Given the description of an element on the screen output the (x, y) to click on. 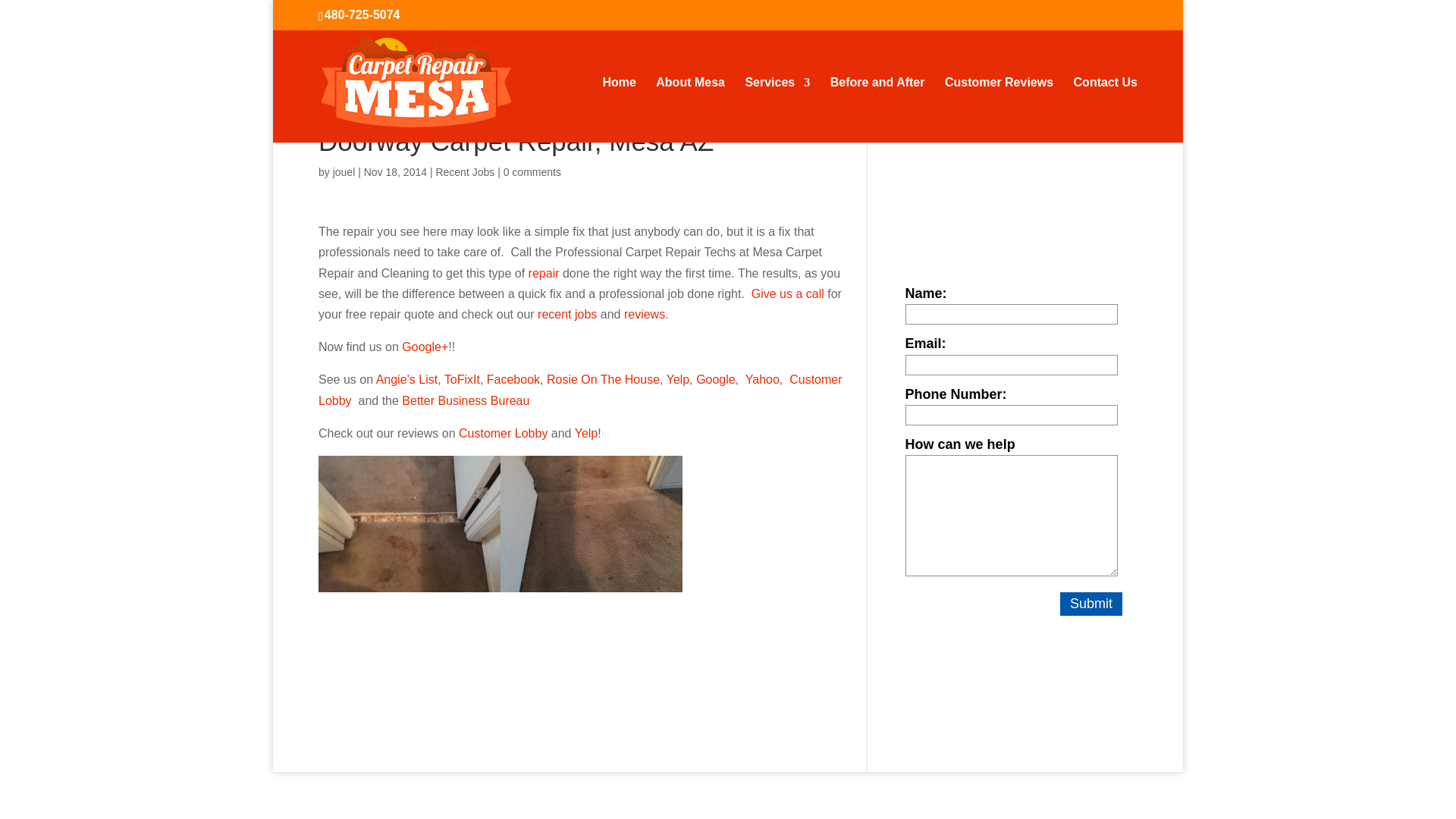
Before and After (876, 109)
Yahoo (761, 379)
About Mesa (690, 109)
Recent Jobs (465, 172)
Customer Lobby (502, 432)
Better Business Bureau (465, 400)
480-725-5074 (362, 14)
ToFixIt (462, 379)
0 comments (531, 172)
Submit (1090, 603)
